Given the description of an element on the screen output the (x, y) to click on. 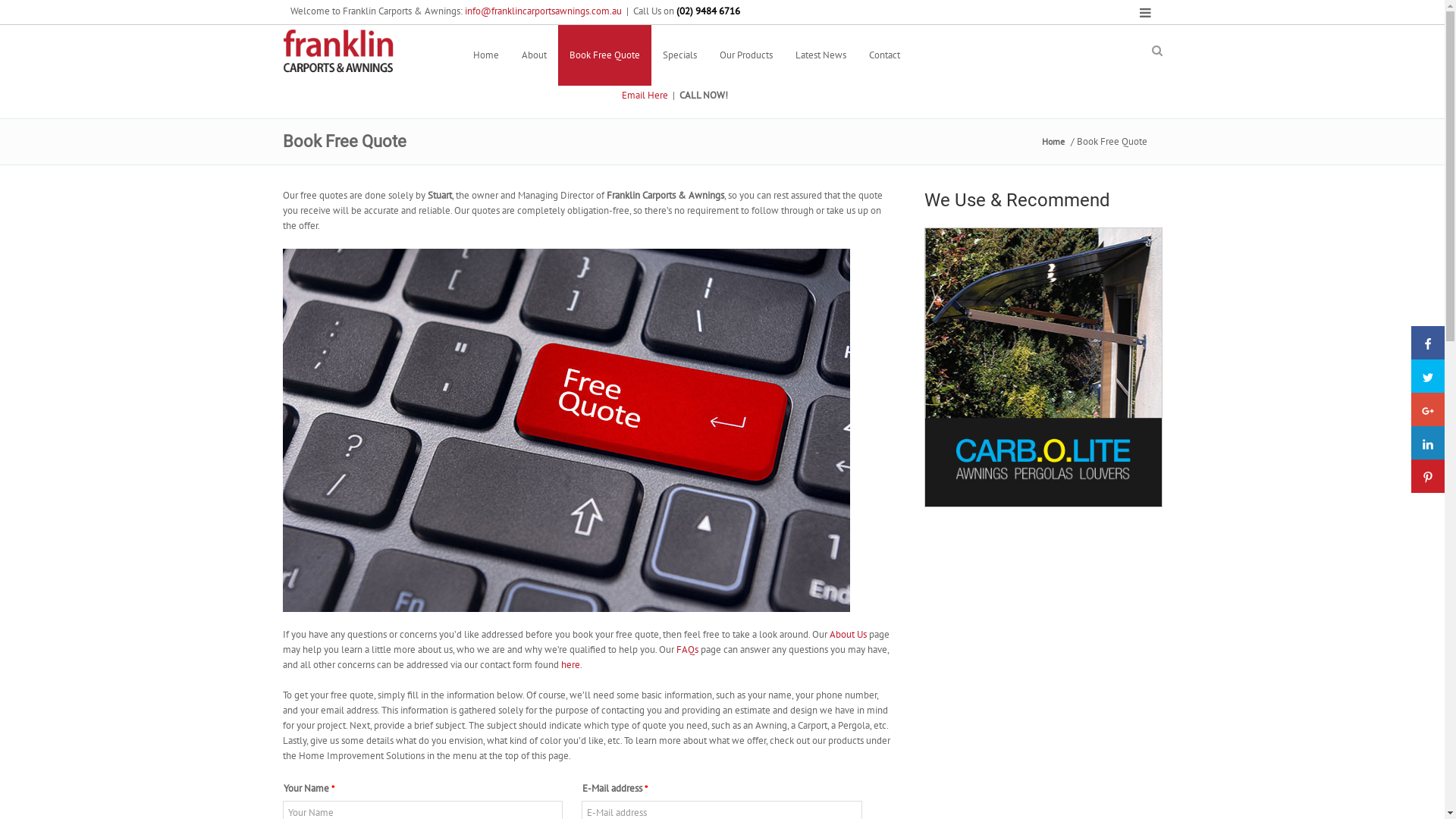
Home Element type: text (485, 55)
About Us Element type: text (847, 633)
(02) 9484 6716 Element type: text (777, 93)
Home Element type: text (1052, 141)
Specials Element type: text (678, 55)
Book Free Quote Element type: text (604, 55)
Email Here Element type: text (644, 94)
Our Products Element type: text (746, 55)
Contact Element type: text (883, 55)
info@franklincarportsawnings.com.au Element type: text (542, 10)
here Element type: text (570, 664)
FAQs Element type: text (687, 649)
About Element type: text (533, 55)
Latest News Element type: text (820, 55)
